Given the description of an element on the screen output the (x, y) to click on. 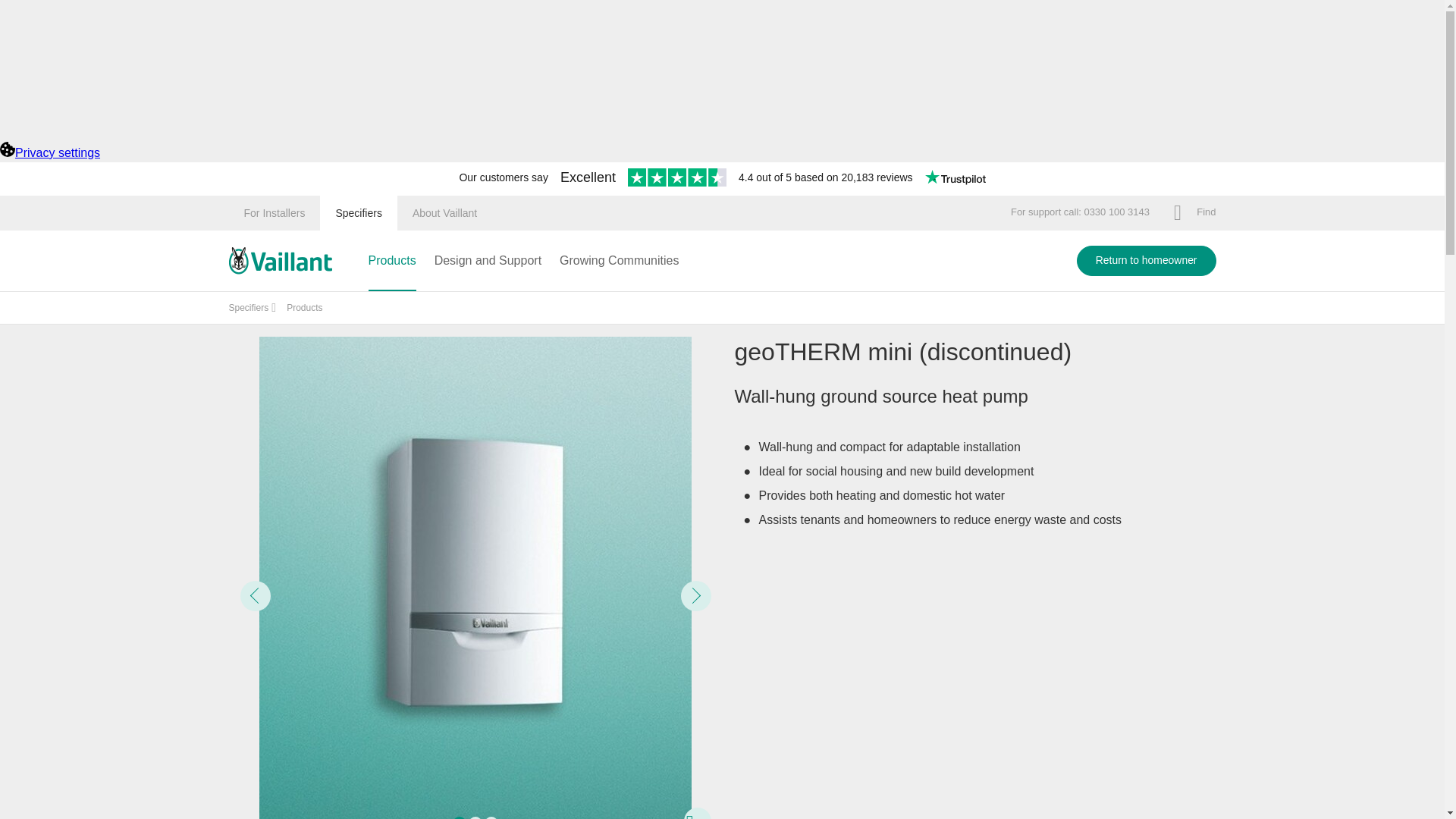
Design and Support (487, 260)
About Vaillant (444, 212)
Vaillant (279, 260)
Find (1194, 212)
For support call: 0330 100 3143 (1080, 212)
Specifiers (358, 212)
For Installers (274, 212)
